Given the description of an element on the screen output the (x, y) to click on. 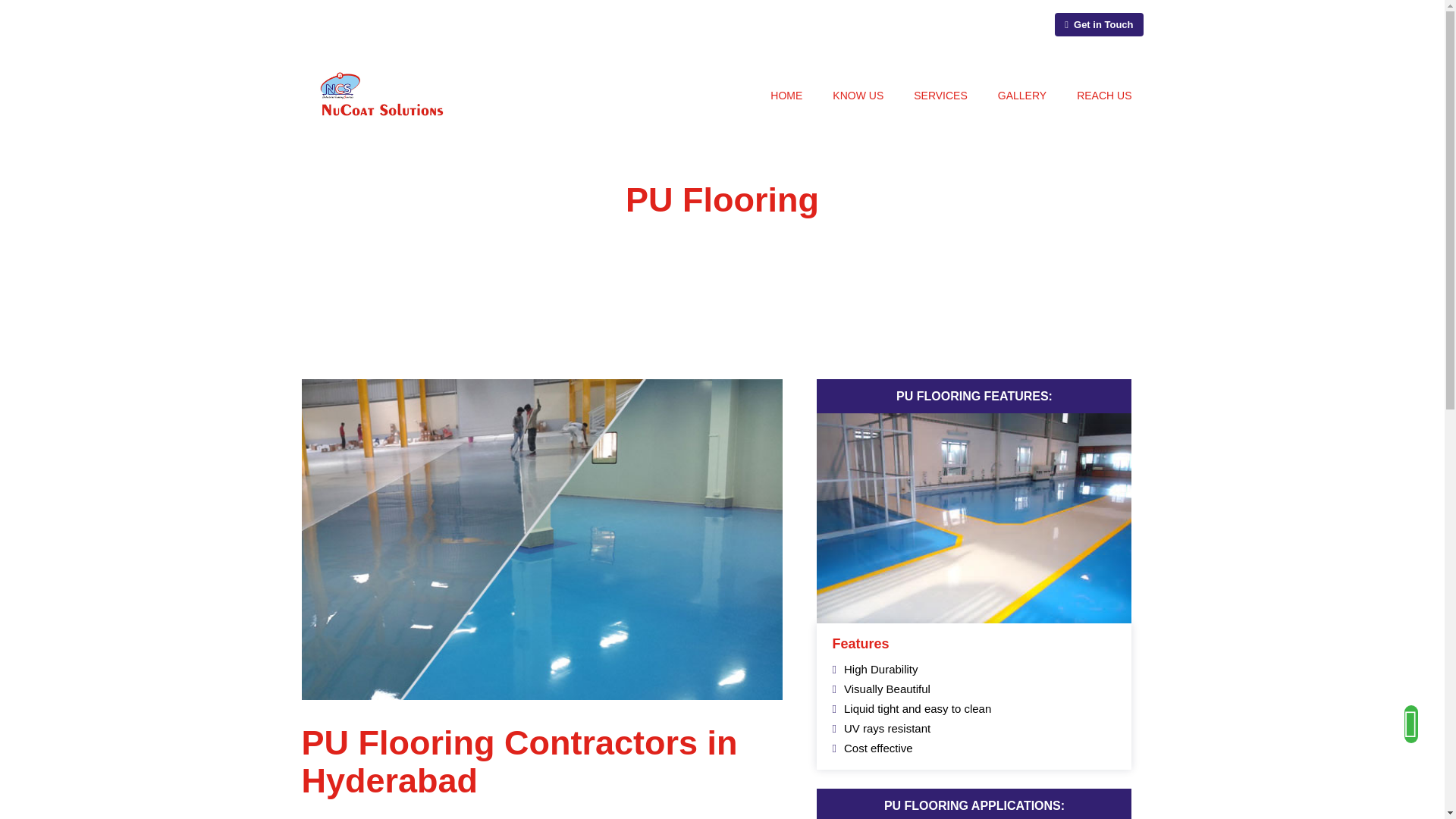
Visually Beautiful (887, 688)
Get in Touch (1098, 24)
HOME (785, 95)
Cost effective (878, 748)
UV rays resistant (887, 727)
REACH US (1103, 95)
Liquid tight and easy to clean (917, 707)
Features (859, 643)
KNOW US (858, 95)
GALLERY (1022, 95)
